Given the description of an element on the screen output the (x, y) to click on. 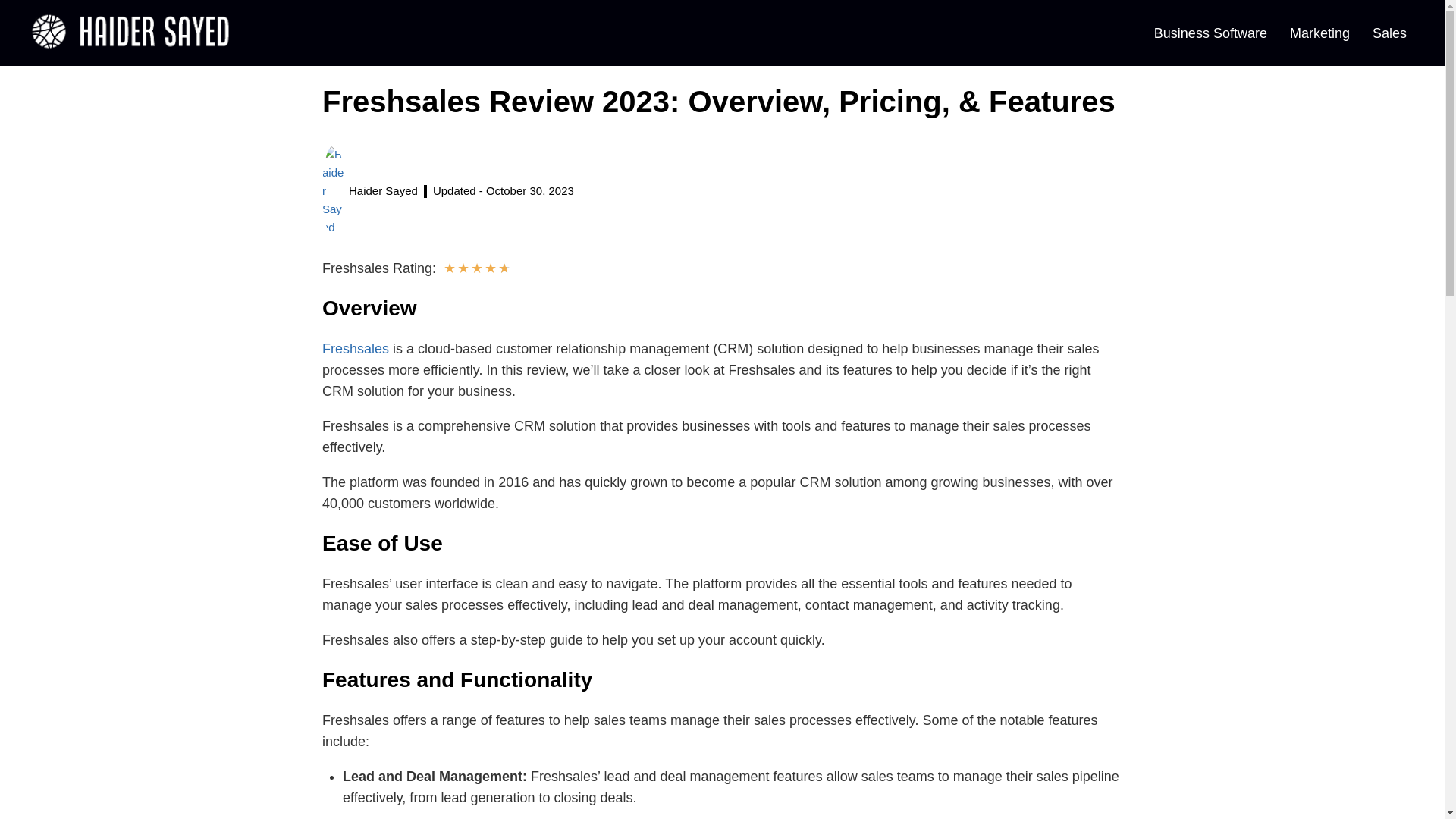
Marketing (1319, 33)
Haider Sayed (369, 190)
Freshsales (354, 348)
Sales (1389, 33)
Business Software (1210, 33)
